Given the description of an element on the screen output the (x, y) to click on. 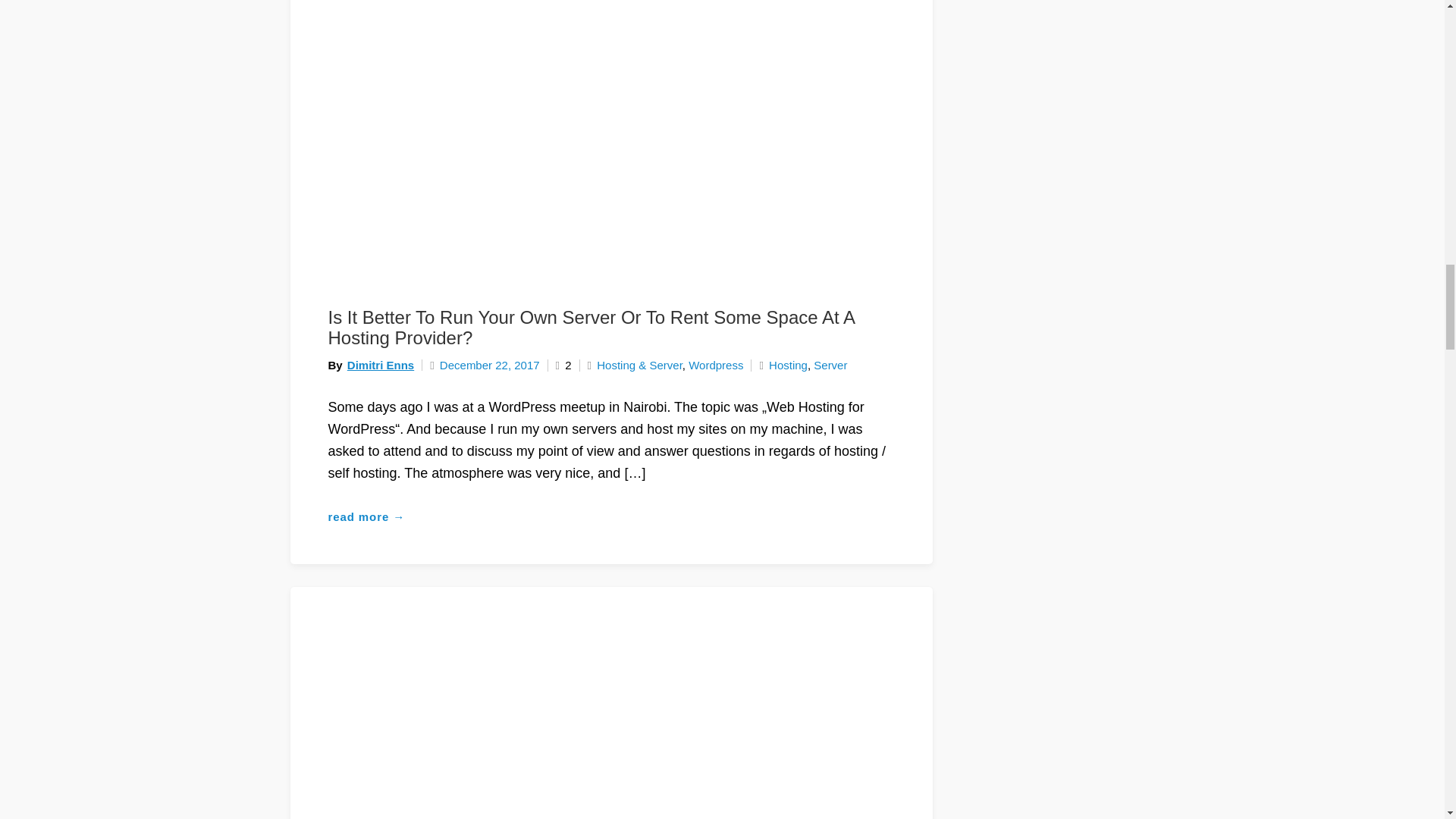
Server (830, 364)
December 22, 2017 (483, 364)
Wordpress (715, 364)
Dimitri Enns (380, 364)
Hosting (788, 364)
